Given the description of an element on the screen output the (x, y) to click on. 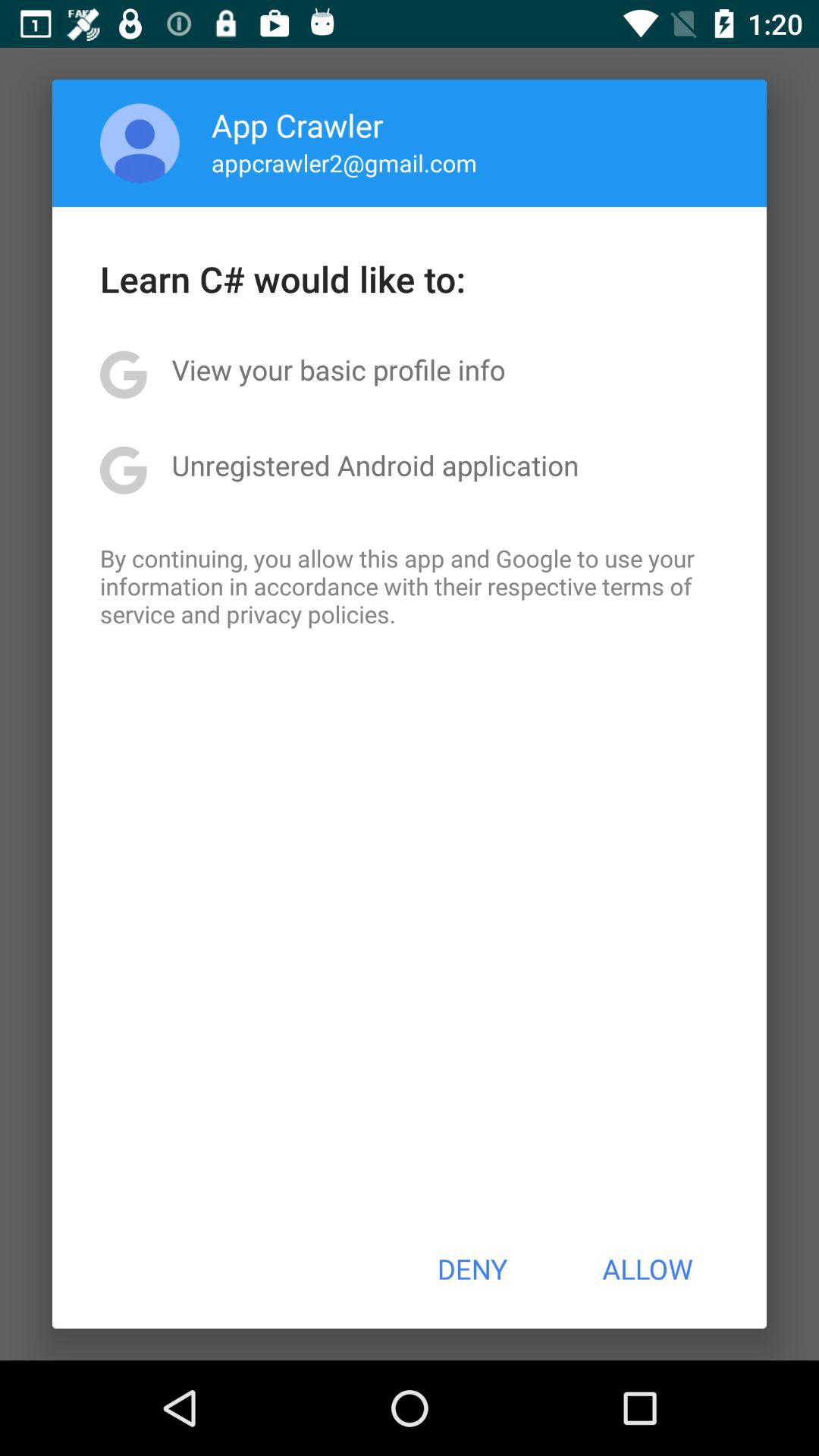
choose item to the left of the app crawler icon (139, 143)
